Given the description of an element on the screen output the (x, y) to click on. 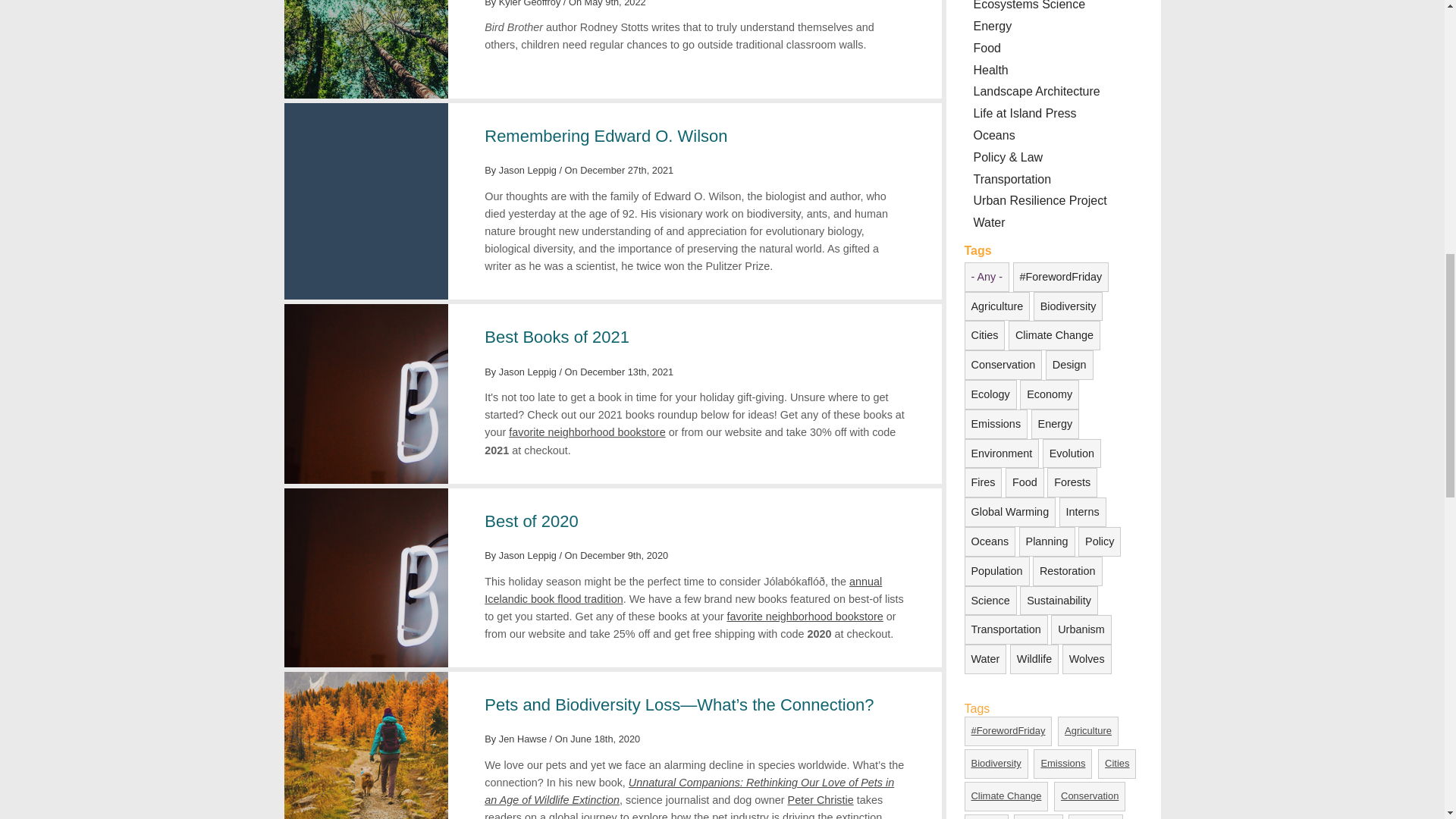
favorite neighborhood bookstore (586, 431)
Remembering Edward O. Wilson (605, 135)
Best Books of 2021 (556, 336)
